Given the description of an element on the screen output the (x, y) to click on. 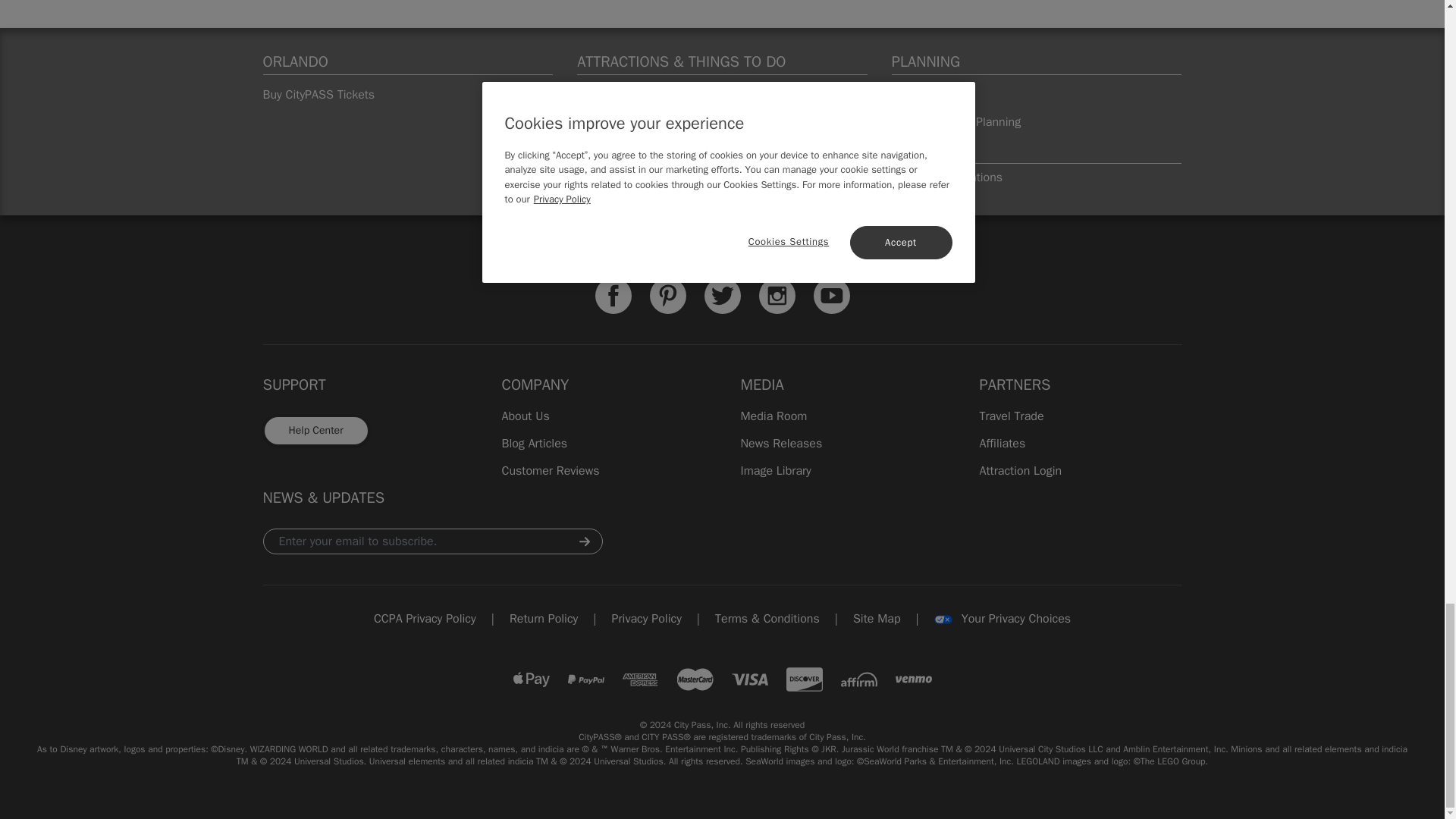
Buy CityPASS Tickets (407, 94)
CityPASS on Twitter (721, 295)
CityPASS on Pinterest (667, 295)
CityPASS on Youtube (830, 295)
CityPASS on Facebook (612, 295)
Privacy Policy (646, 618)
CityPASS on Instagram (776, 295)
CCPA Privacy Policy (425, 618)
Return Policy (543, 618)
